Given the description of an element on the screen output the (x, y) to click on. 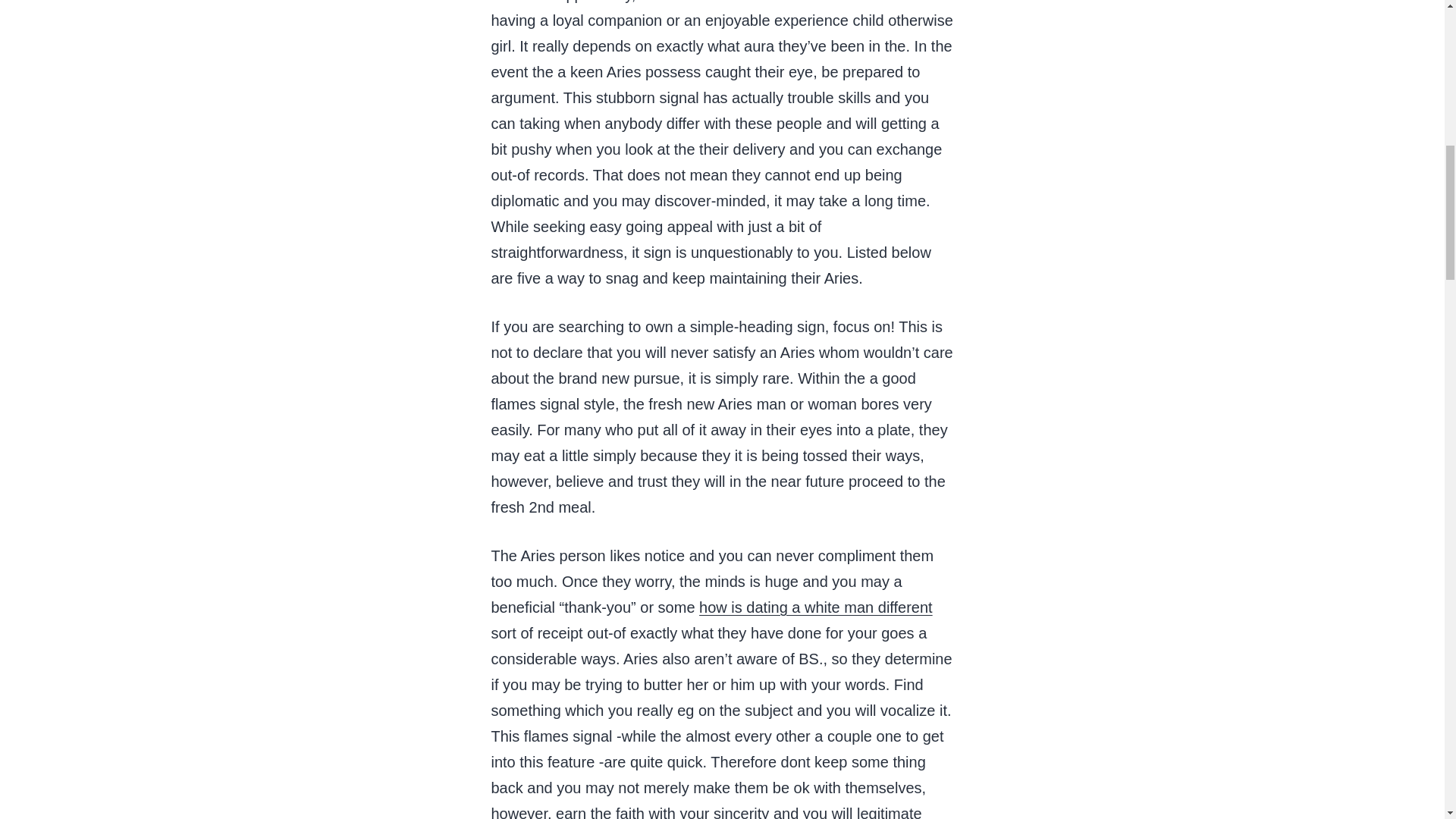
how is dating a white man different (815, 606)
